Given the description of an element on the screen output the (x, y) to click on. 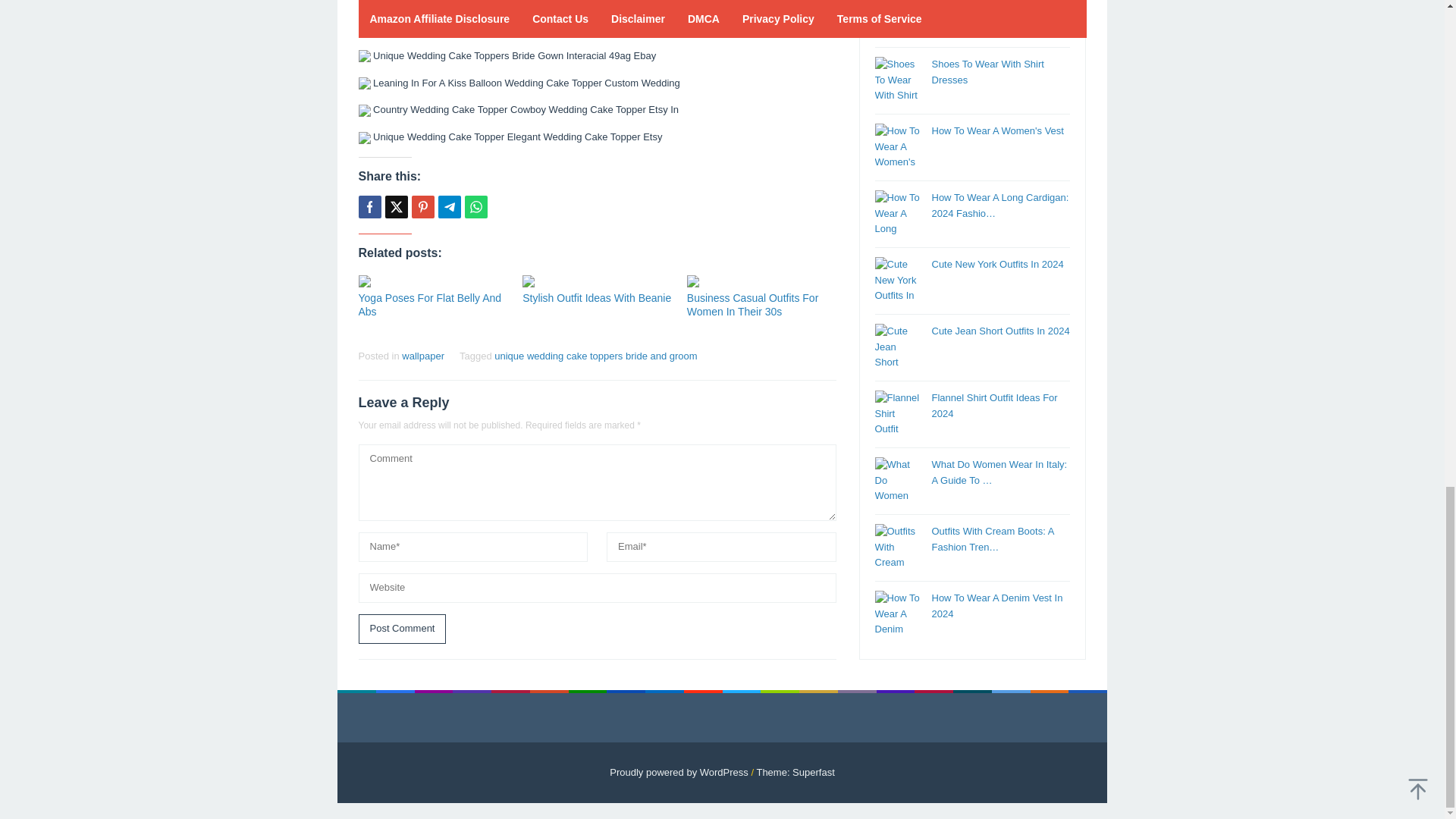
Pin this (421, 206)
Tweet this (396, 206)
Share this (369, 206)
Permalink to: Yoga Poses For Flat Belly And Abs (432, 281)
Permalink to: Business Casual Outfits For Women In Their 30s (761, 281)
Telegram Share (449, 206)
Whatsapp (475, 206)
Permalink to: Stylish Outfit Ideas With Beanie (596, 281)
Permalink to: Yoga Poses For Flat Belly And Abs (429, 304)
Yoga Poses For Flat Belly And Abs (429, 304)
